Given the description of an element on the screen output the (x, y) to click on. 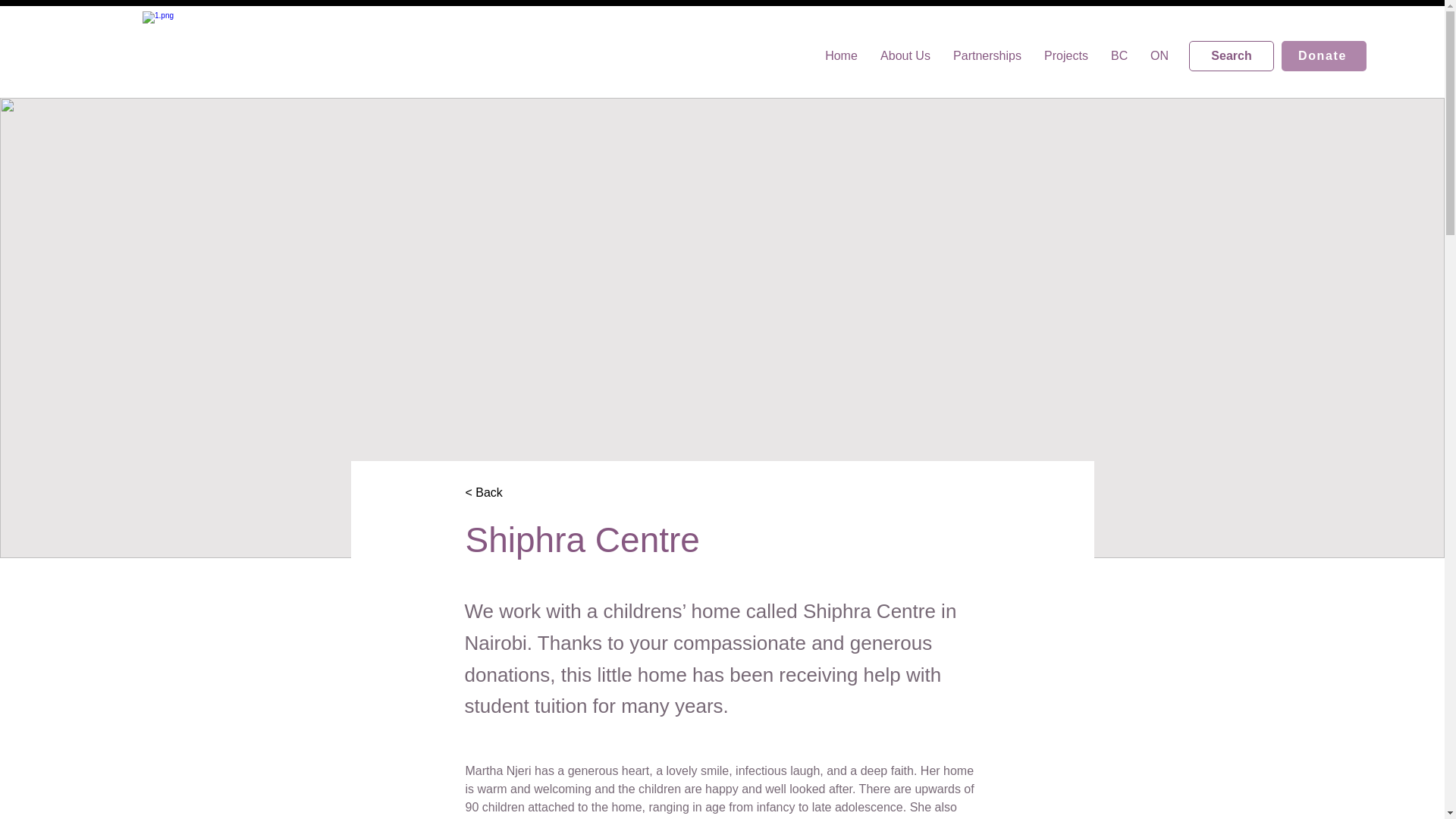
Home (841, 55)
Partnerships (987, 55)
Donate (1324, 55)
Projects (1065, 55)
Search (1231, 55)
About Us (905, 55)
